Given the description of an element on the screen output the (x, y) to click on. 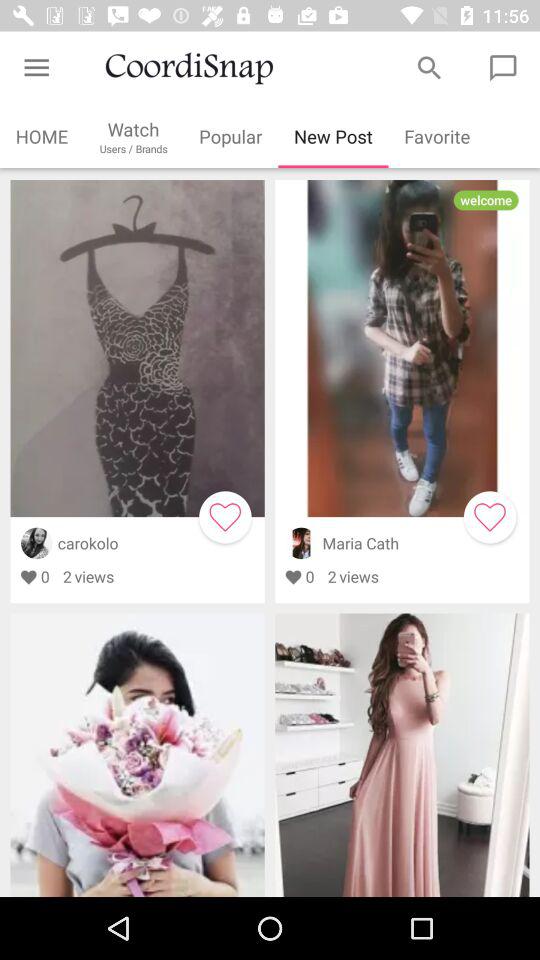
like the item (225, 517)
